Given the description of an element on the screen output the (x, y) to click on. 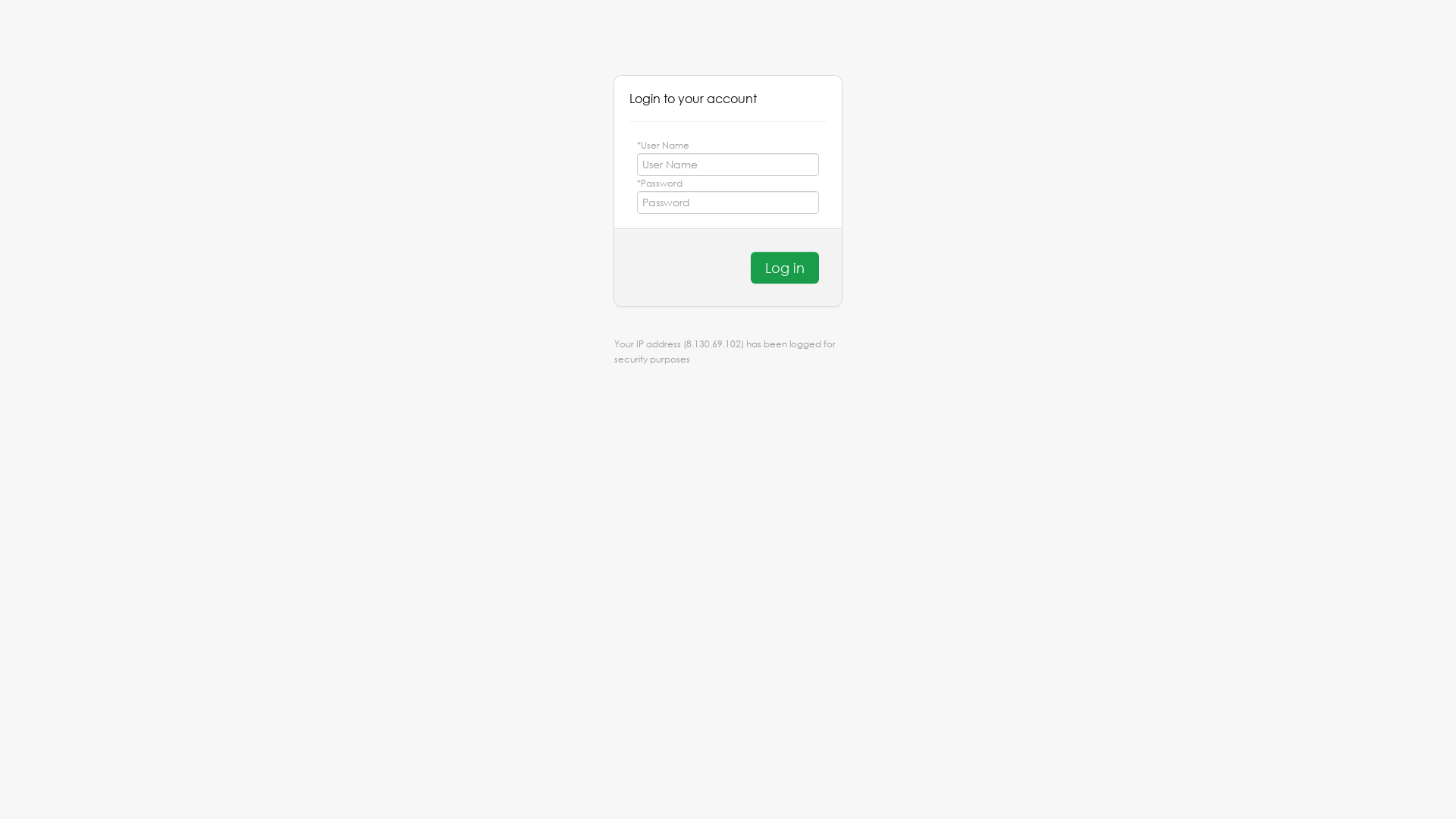
Log in Element type: text (784, 267)
